Given the description of an element on the screen output the (x, y) to click on. 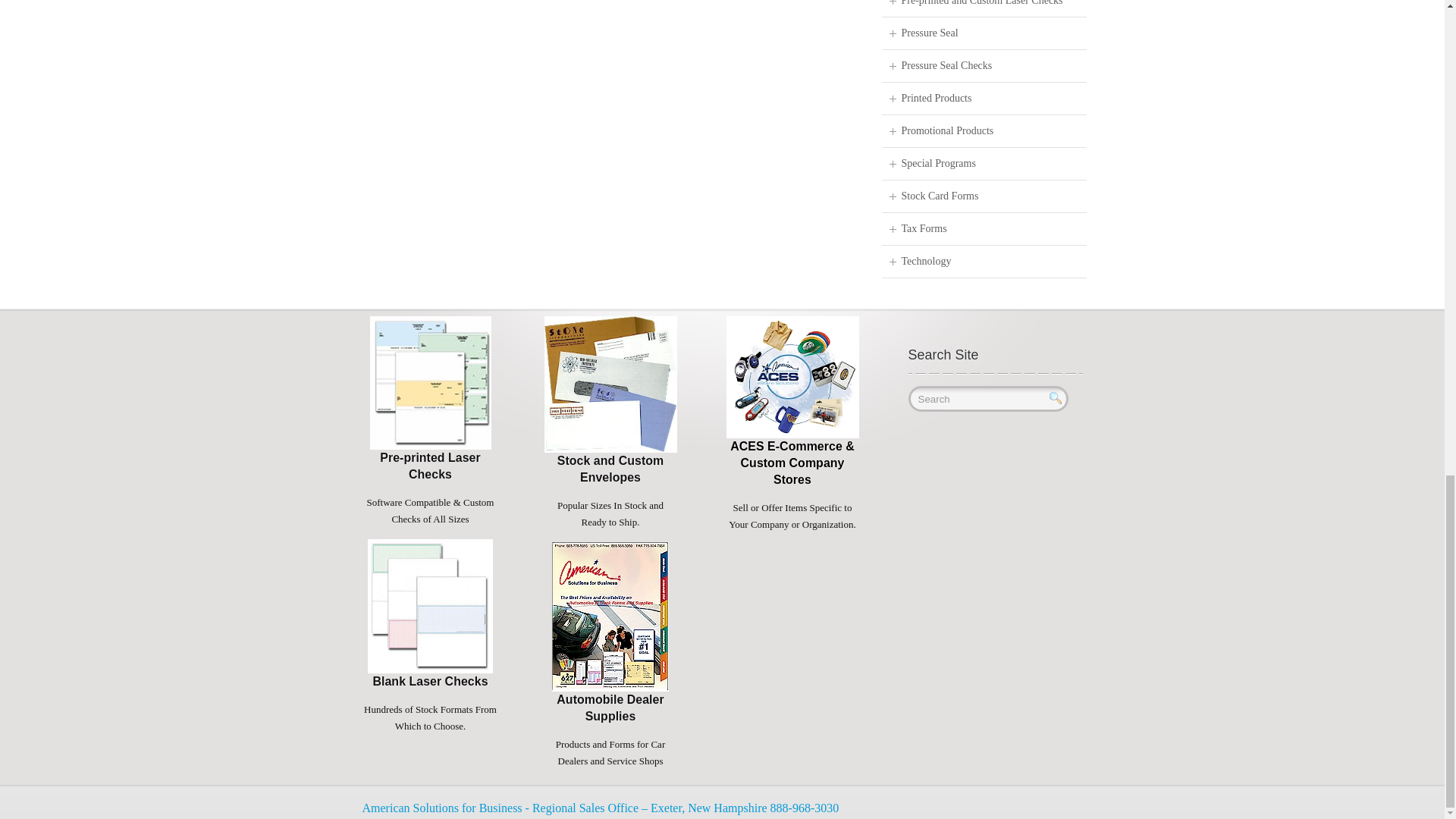
Search (988, 398)
